Given the description of an element on the screen output the (x, y) to click on. 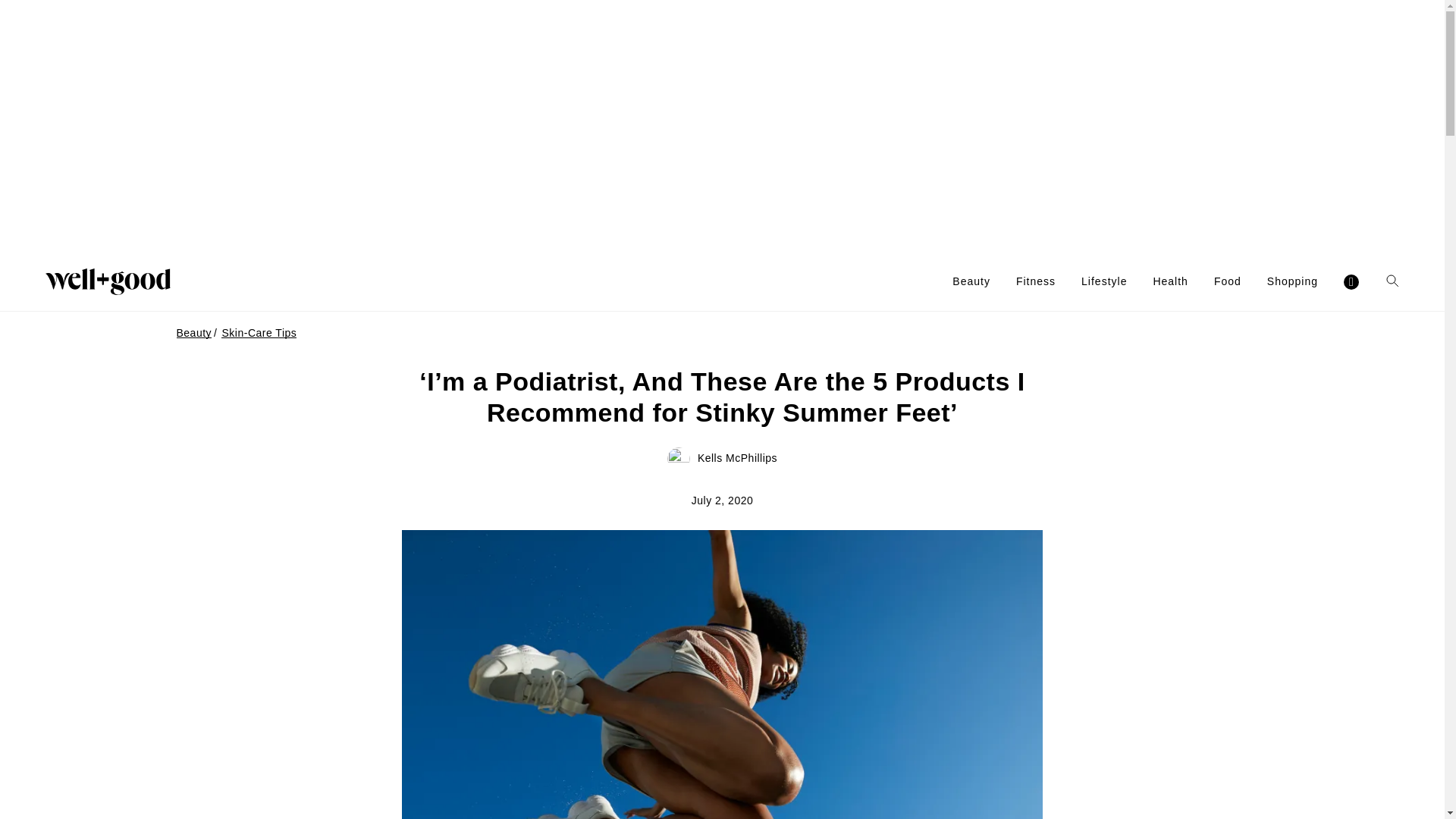
Lifestyle (1103, 281)
Beauty (971, 281)
Shopping (1291, 281)
Health (1170, 281)
Food (1227, 281)
Fitness (1035, 281)
